Given the description of an element on the screen output the (x, y) to click on. 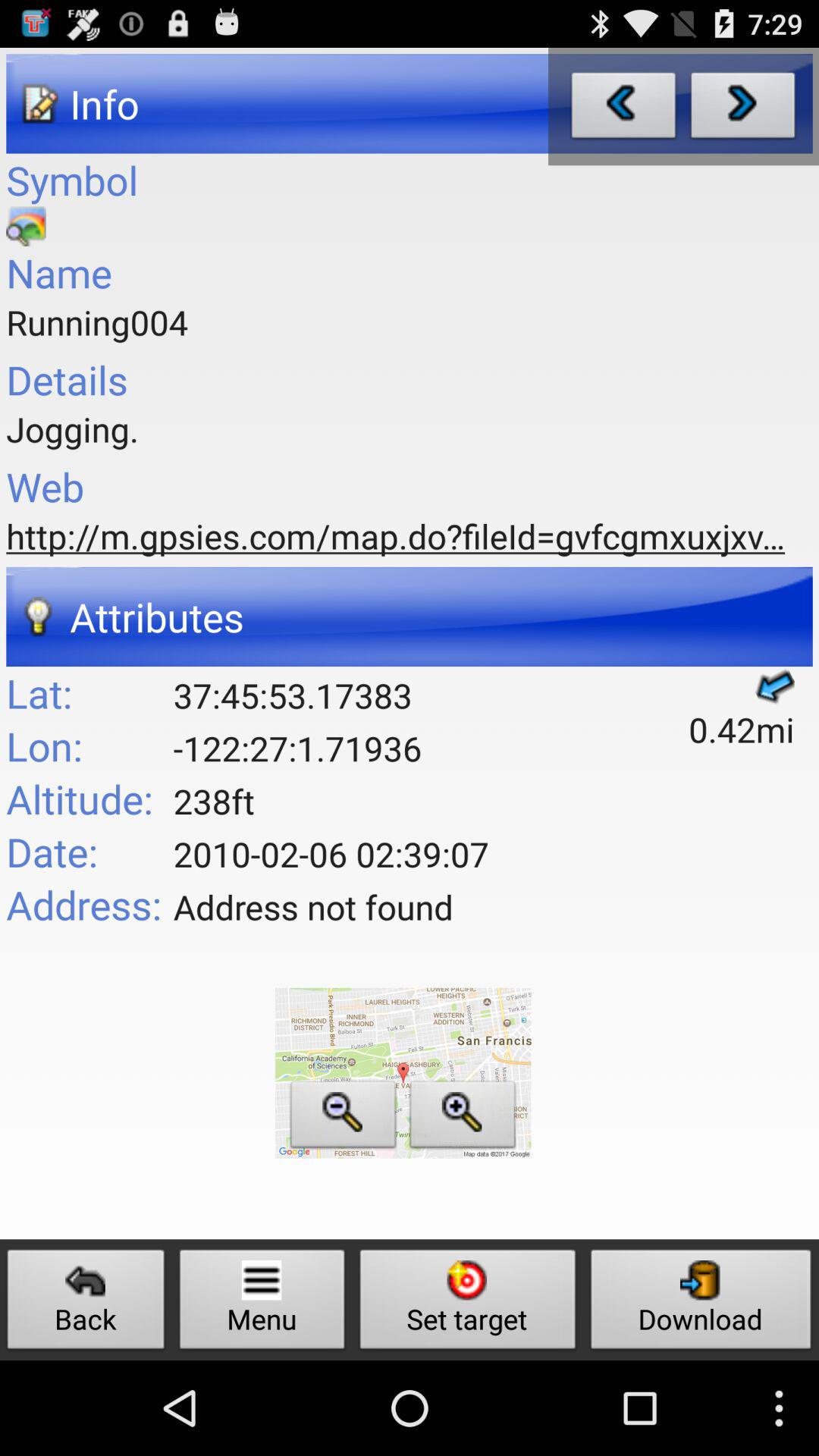
choose the icon next to the menu button (86, 1303)
